Given the description of an element on the screen output the (x, y) to click on. 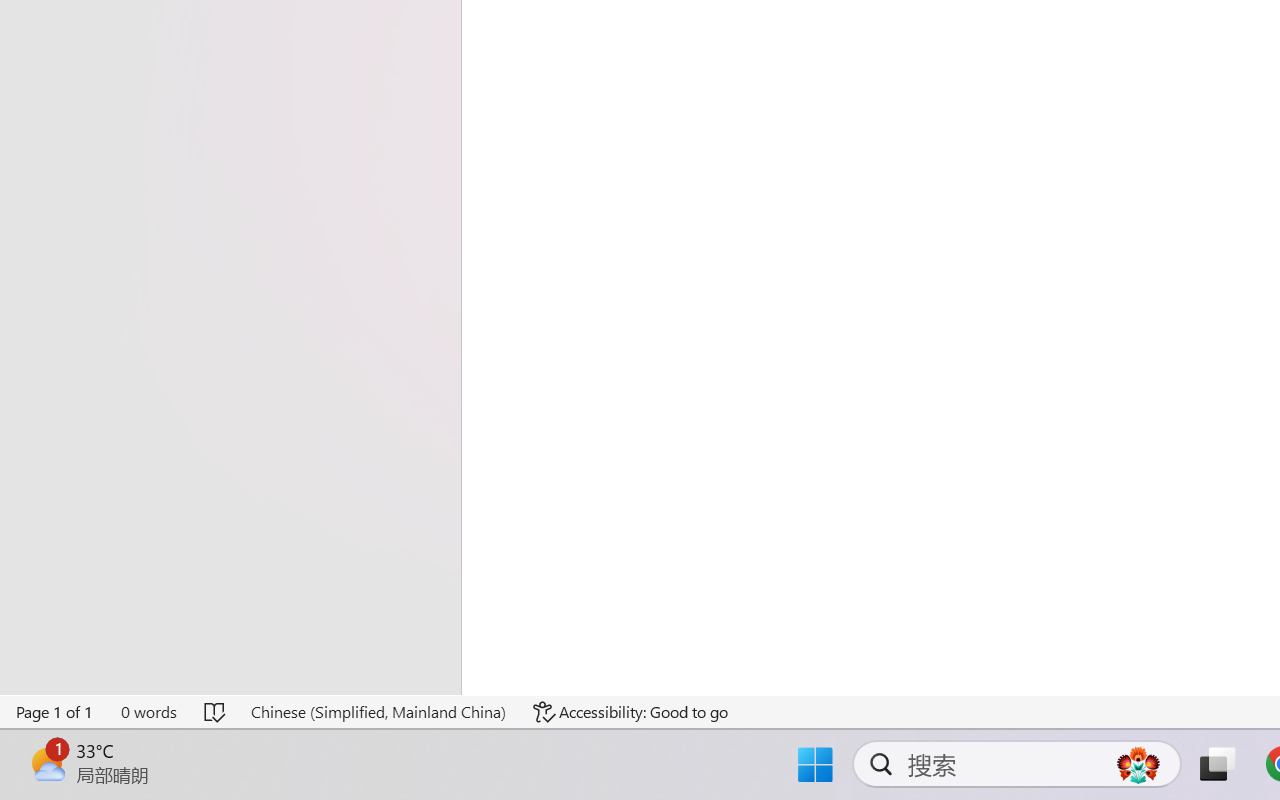
Language Chinese (Simplified, Mainland China) (378, 712)
